Given the description of an element on the screen output the (x, y) to click on. 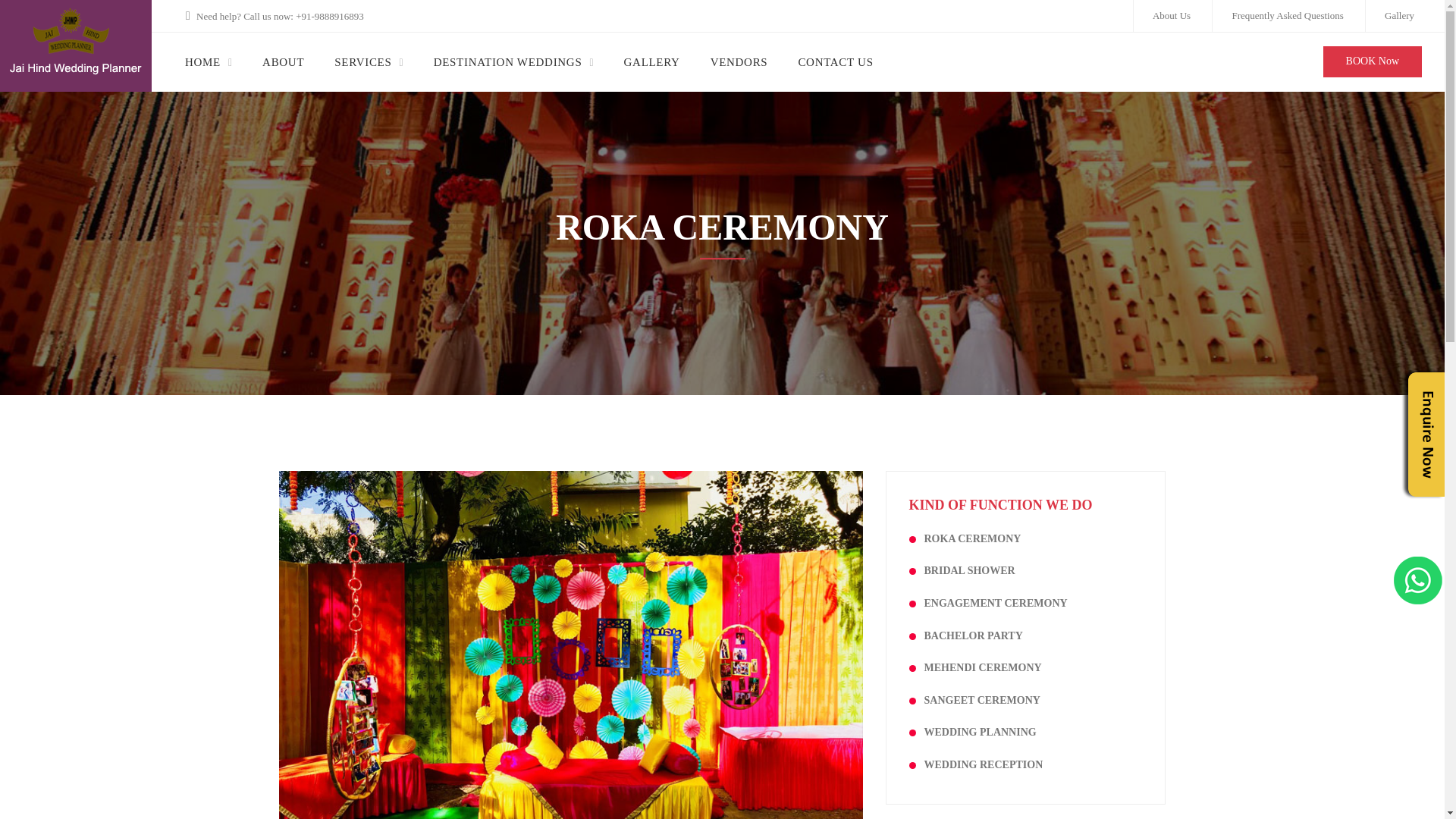
GALLERY (651, 61)
Wedding Planners (75, 43)
HOME (202, 61)
ABOUT (283, 61)
About Us (1171, 15)
VENDORS (739, 61)
Gallery (1398, 15)
SERVICES (362, 61)
DESTINATION WEDDINGS (507, 61)
CONTACT US (834, 61)
